Given the description of an element on the screen output the (x, y) to click on. 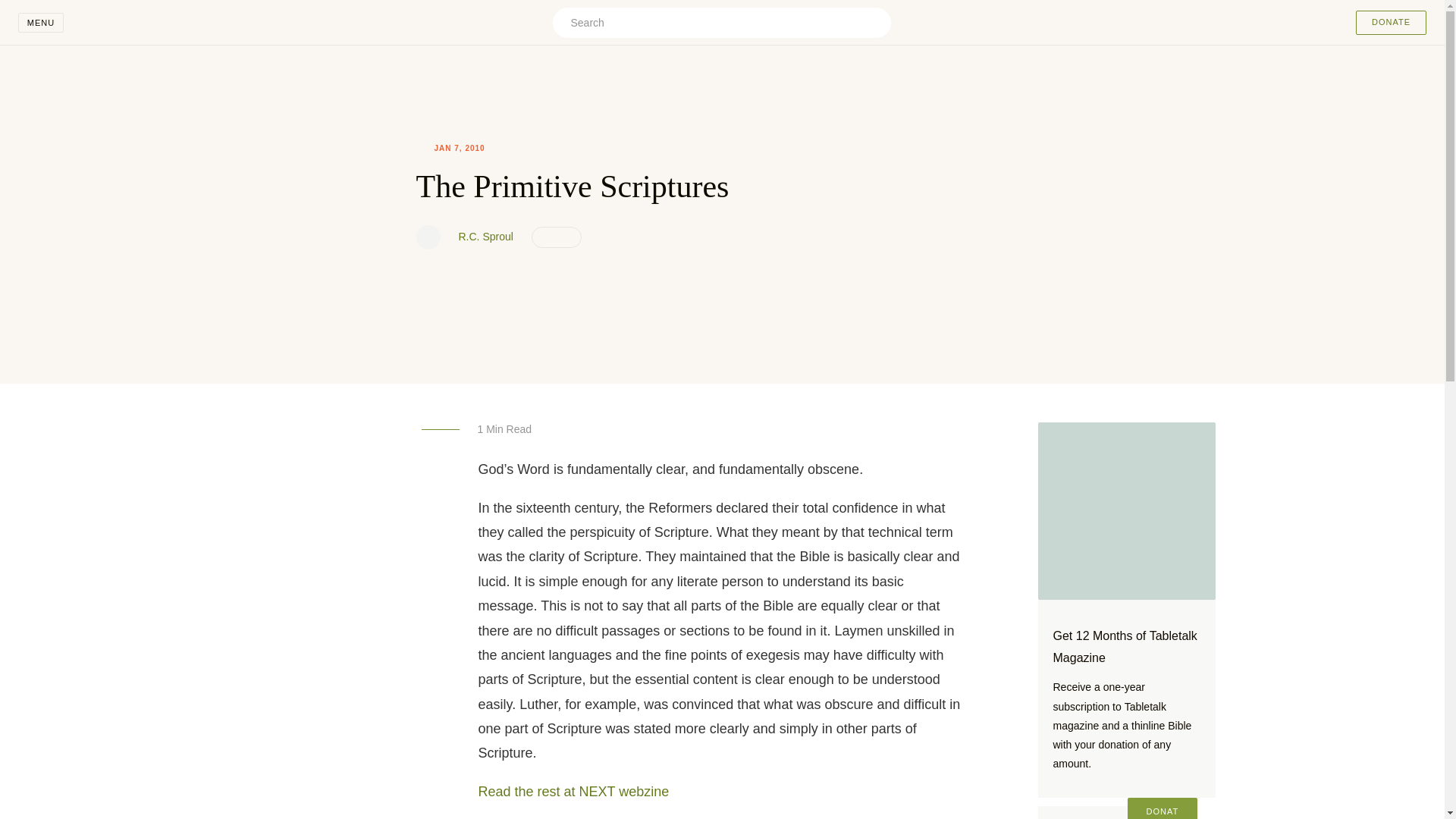
MENU (40, 22)
DONATE (1390, 22)
